Given the description of an element on the screen output the (x, y) to click on. 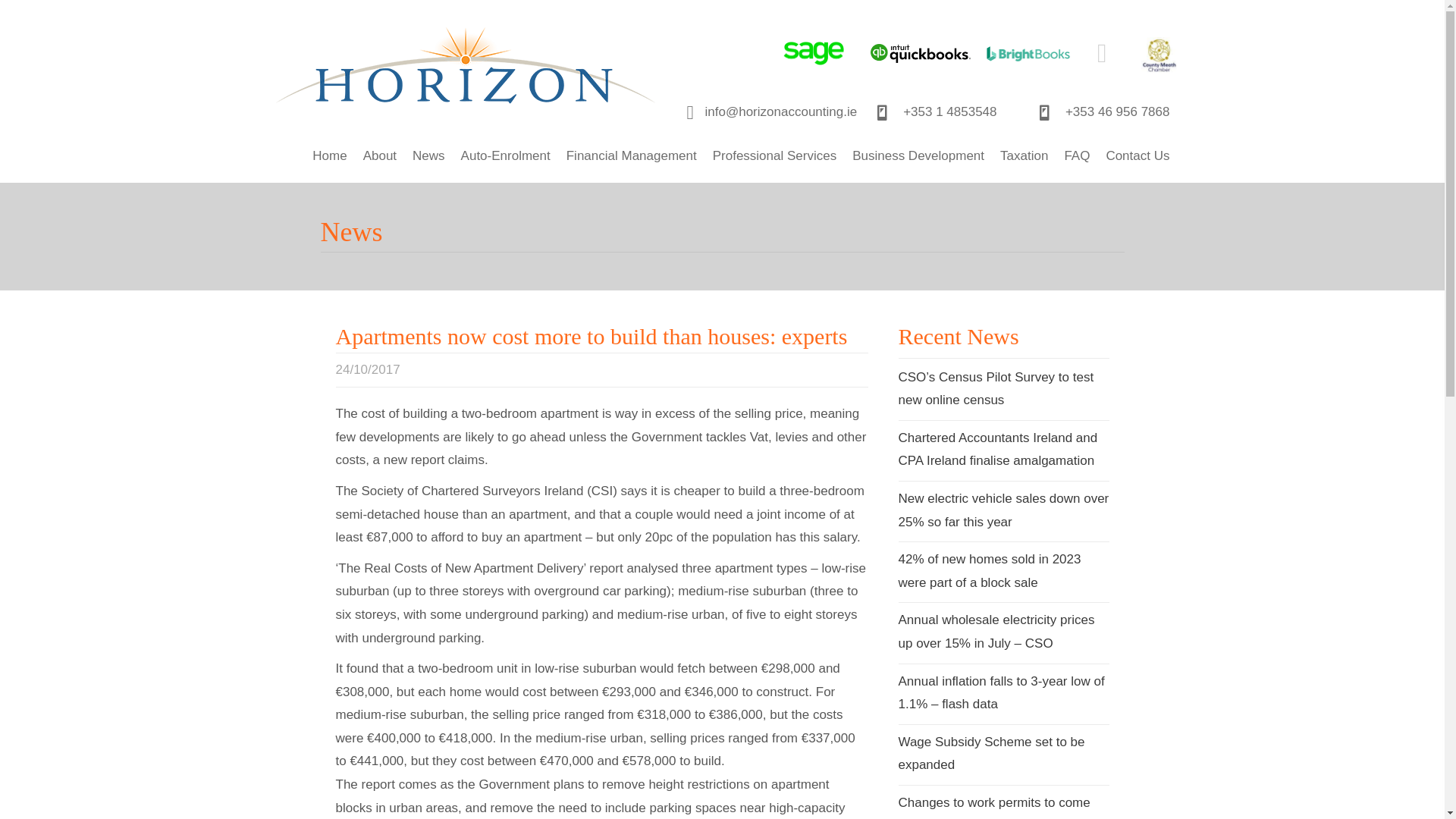
Financial Management (631, 156)
Professional Services (774, 156)
Auto-Enrolment (504, 156)
About (379, 156)
News (428, 156)
horizon-energy-group1 (465, 74)
brightbooks logo (1027, 53)
unnamed (1159, 54)
Home (328, 156)
quickbooks (920, 53)
